Given the description of an element on the screen output the (x, y) to click on. 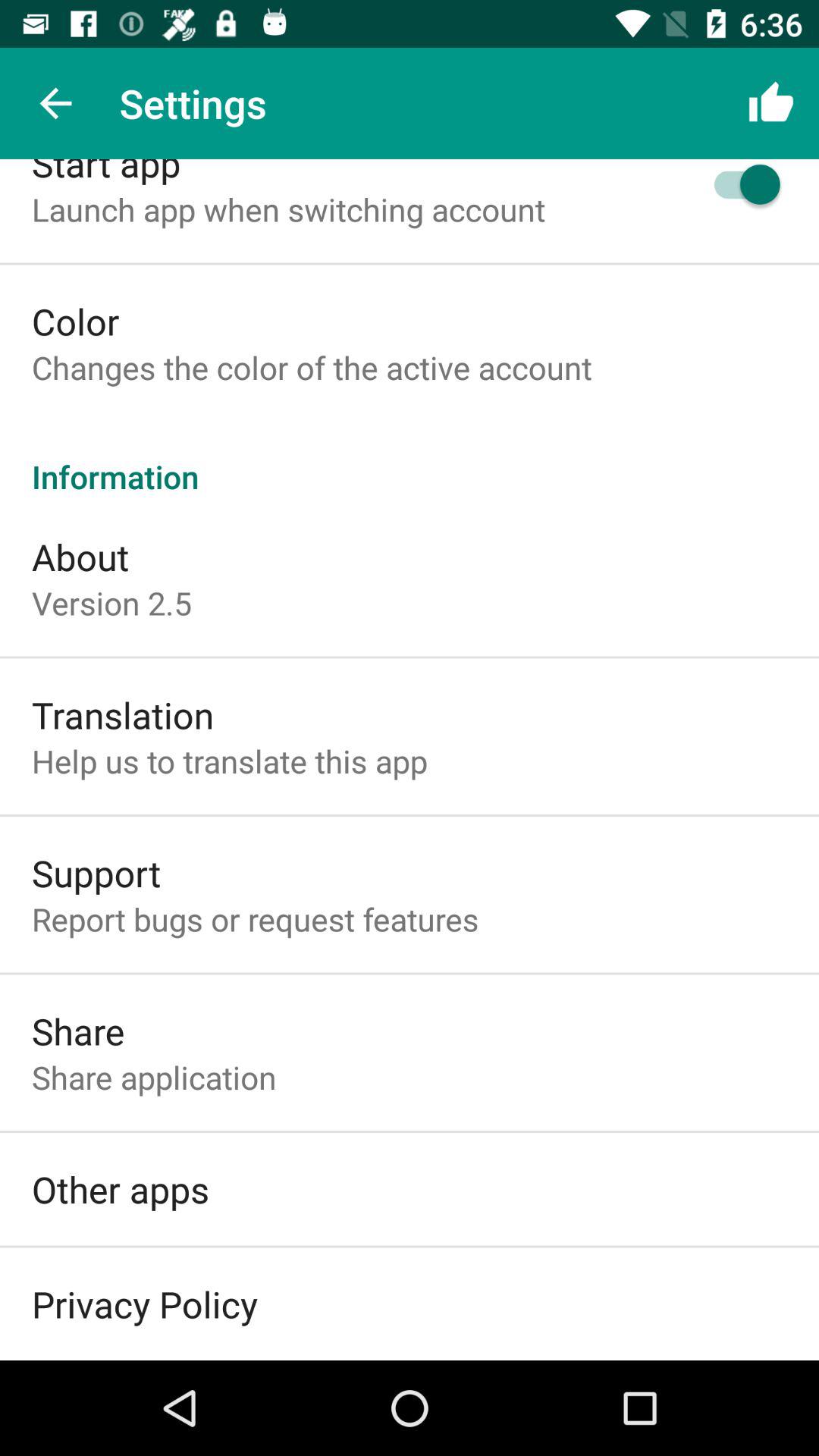
turn on item above the privacy policy icon (120, 1188)
